Given the description of an element on the screen output the (x, y) to click on. 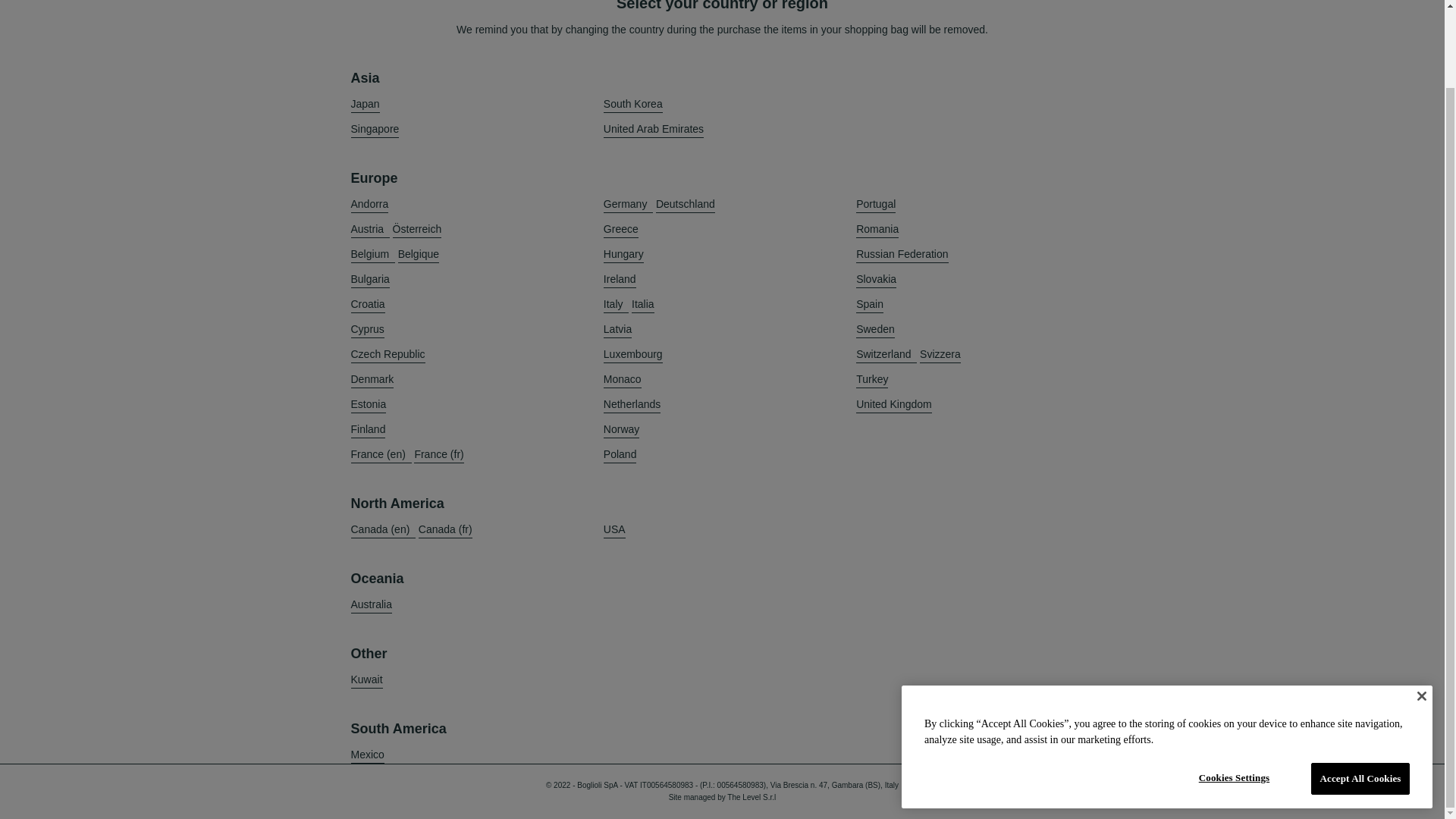
Japan (364, 104)
Latvia (617, 329)
Monaco (623, 379)
Deutschland (685, 203)
Russian Federation (901, 253)
Netherlands (632, 404)
Bulgaria (369, 279)
South Korea (633, 104)
Italy (616, 303)
Denmark (371, 379)
